Given the description of an element on the screen output the (x, y) to click on. 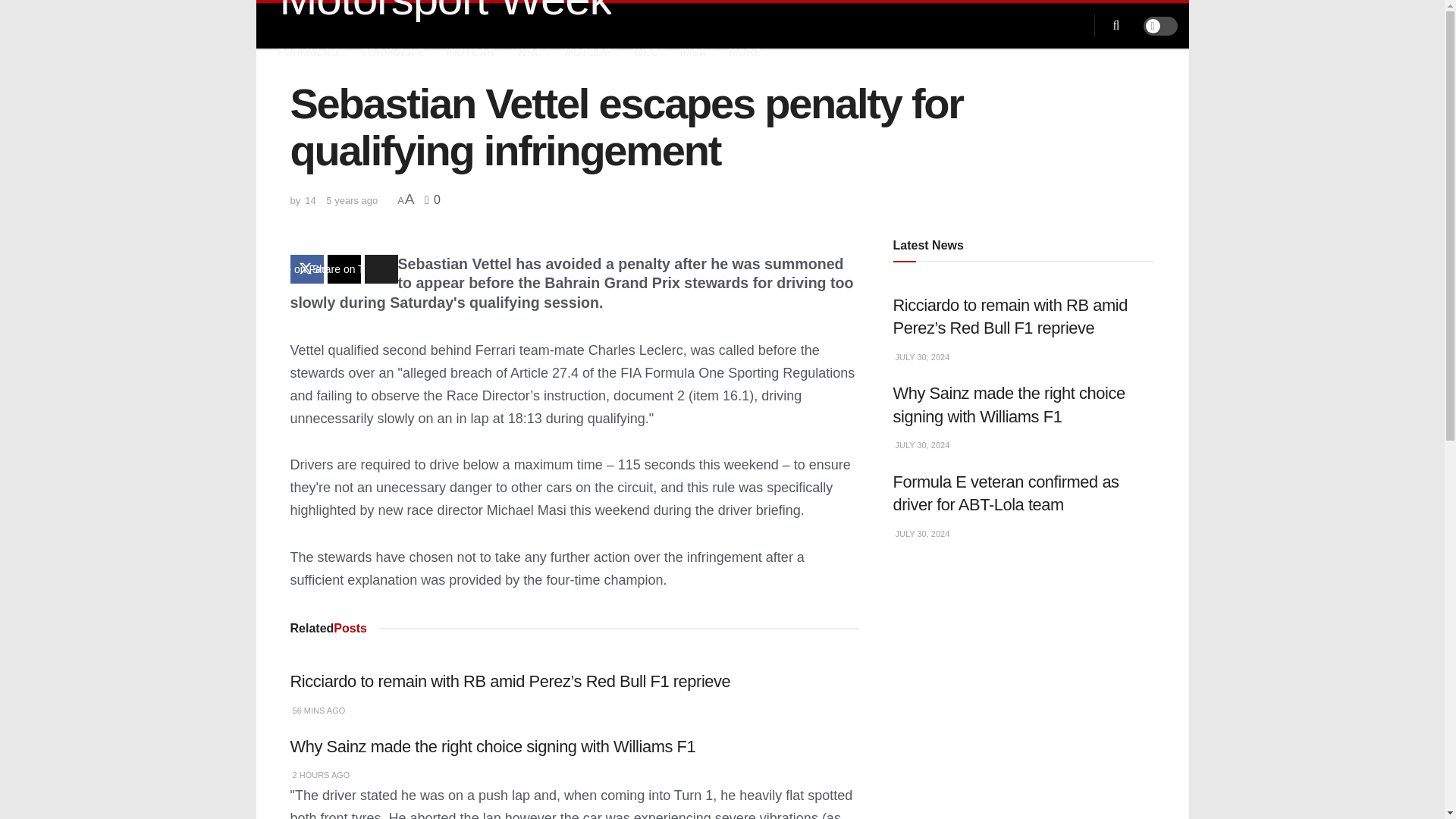
WRC (532, 52)
MORE (747, 52)
INDYCAR (473, 52)
FORMULA 1 (310, 52)
MOTOGP (589, 52)
IMSA (695, 52)
FORMULA E (395, 52)
WEC (648, 52)
